Given the description of an element on the screen output the (x, y) to click on. 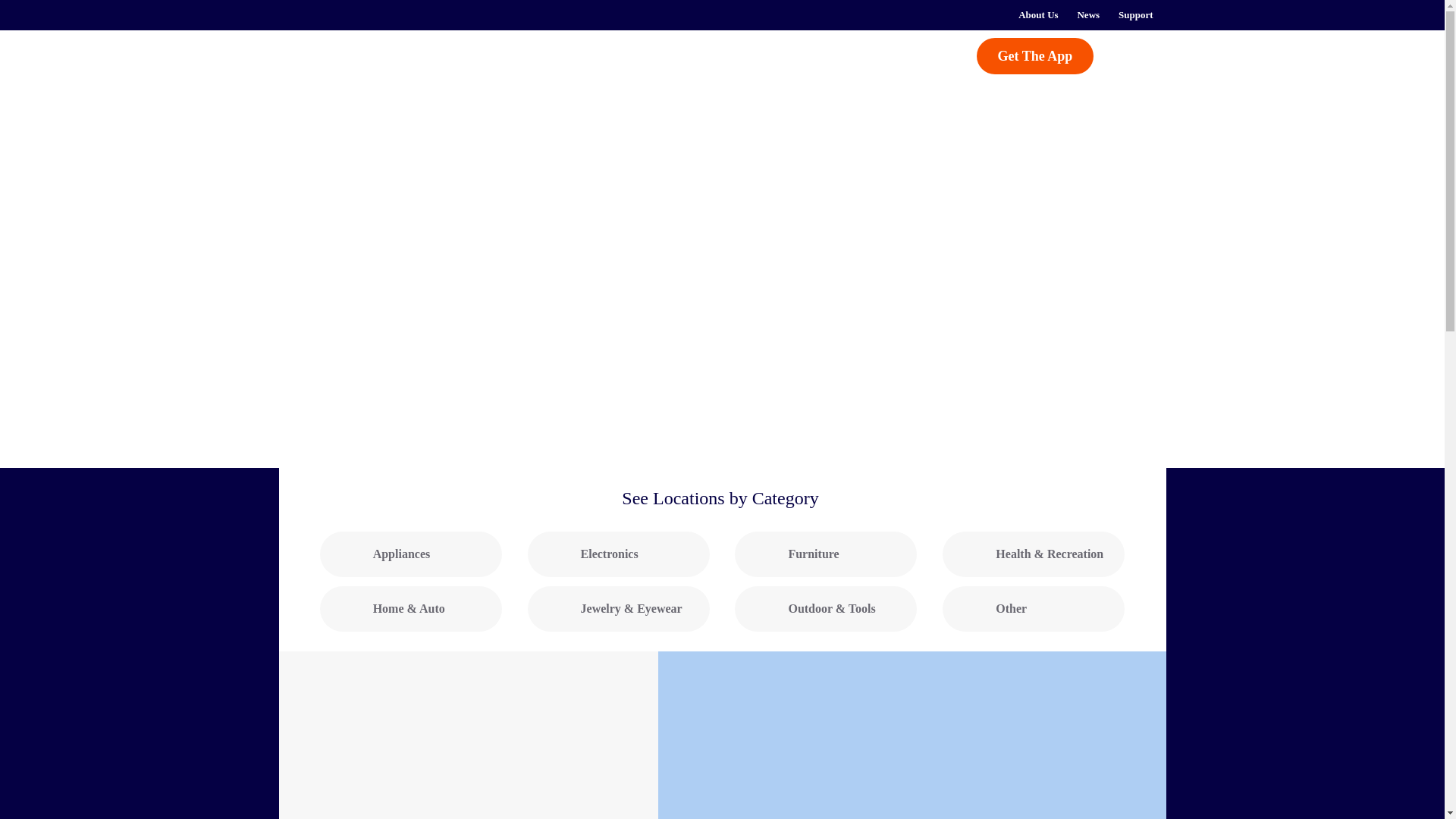
About Us (1037, 15)
Appliances (411, 554)
For Partners (769, 54)
Furniture (826, 554)
Acima (358, 63)
Get The App (1035, 55)
Support (1136, 15)
How It Works (516, 54)
Electronics (618, 554)
Ways to Shop (653, 54)
